Given the description of an element on the screen output the (x, y) to click on. 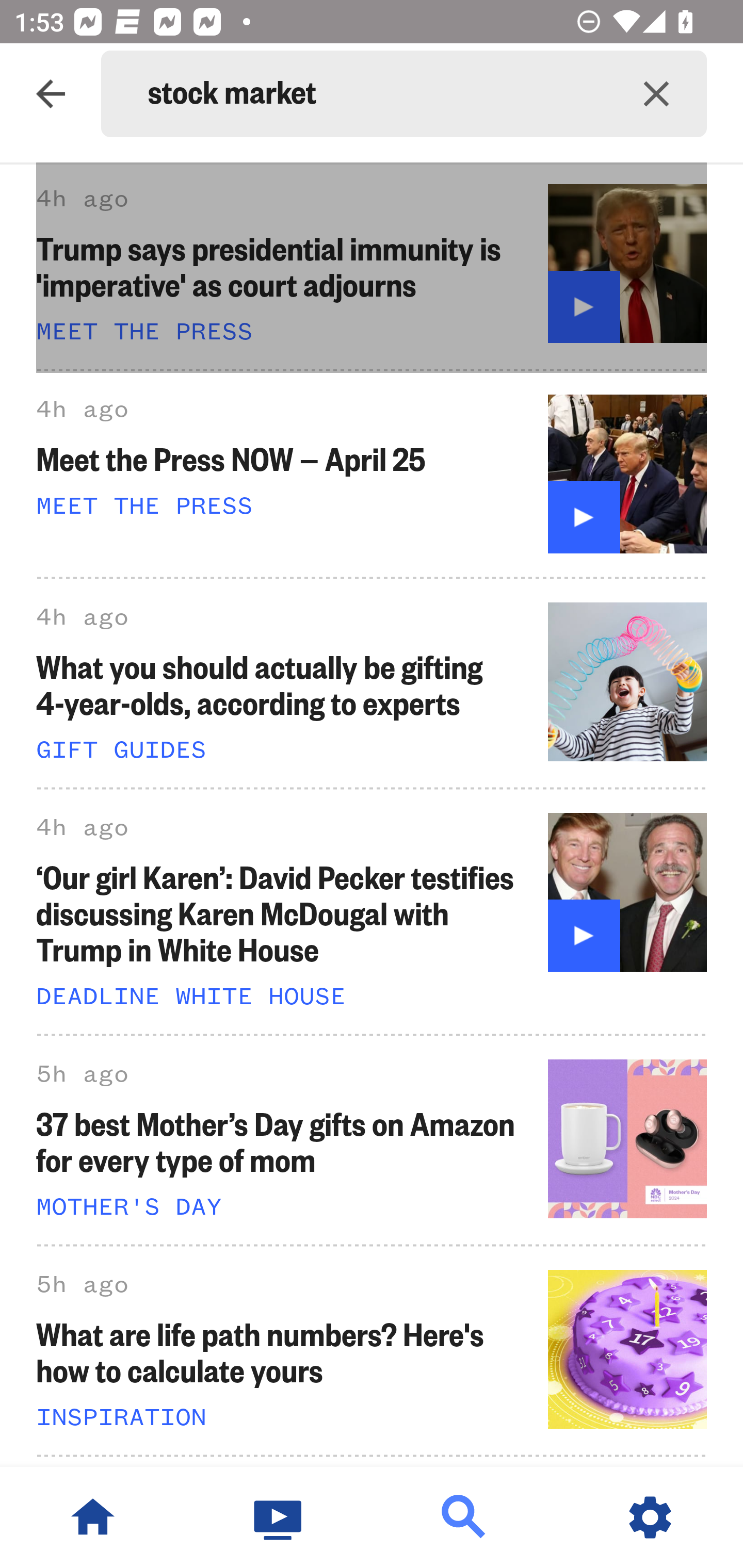
Navigate up (50, 93)
Clear query (656, 93)
stock market (376, 94)
NBC News Home (92, 1517)
Watch (278, 1517)
Settings (650, 1517)
